Given the description of an element on the screen output the (x, y) to click on. 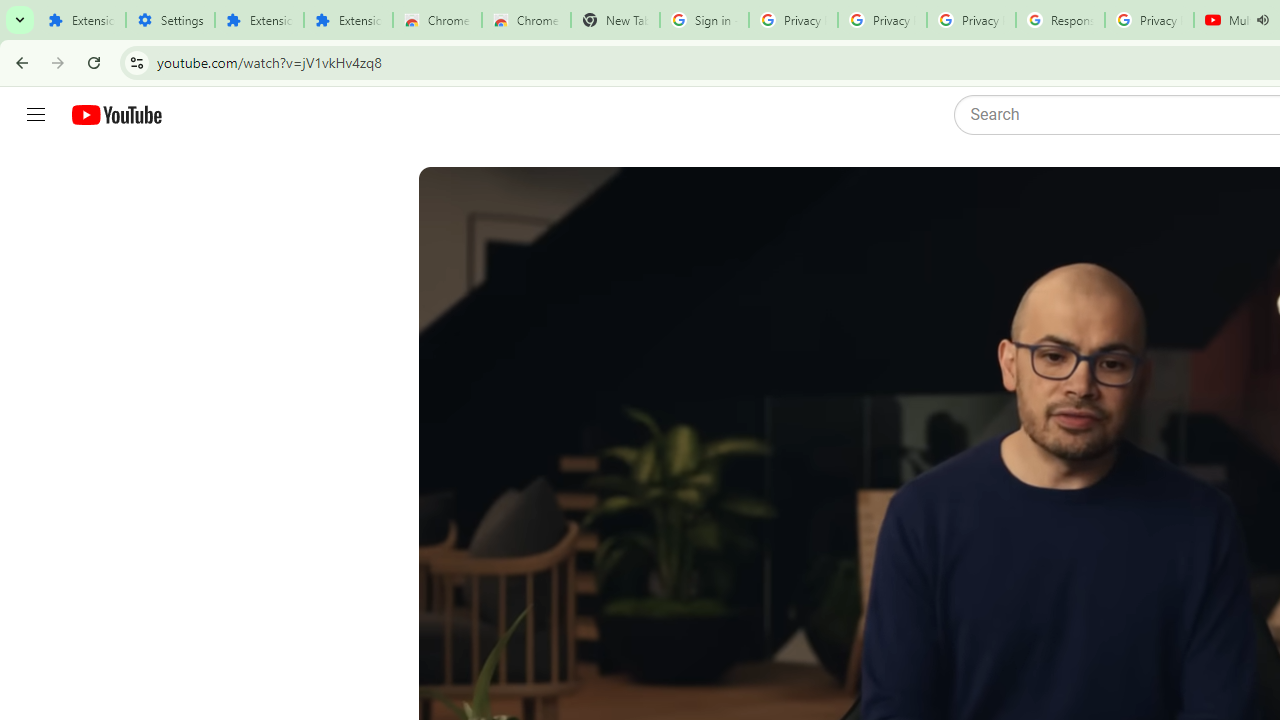
Chrome Web Store (437, 20)
Sign in - Google Accounts (704, 20)
